Given the description of an element on the screen output the (x, y) to click on. 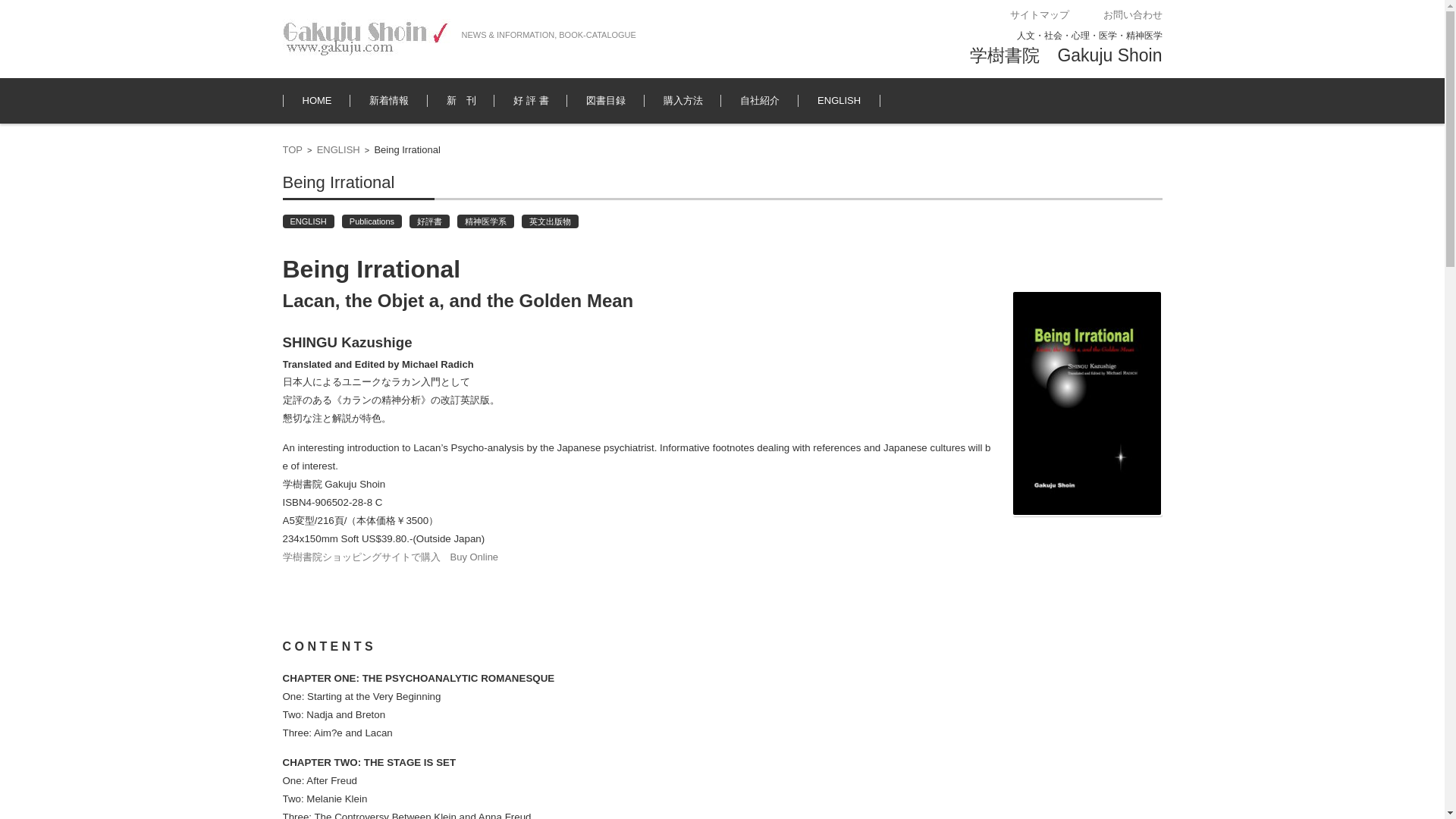
ENGLISH (307, 221)
ENGLISH (838, 100)
Publications (371, 221)
ENGLISH (338, 149)
HOME (316, 100)
TOP (292, 149)
